Given the description of an element on the screen output the (x, y) to click on. 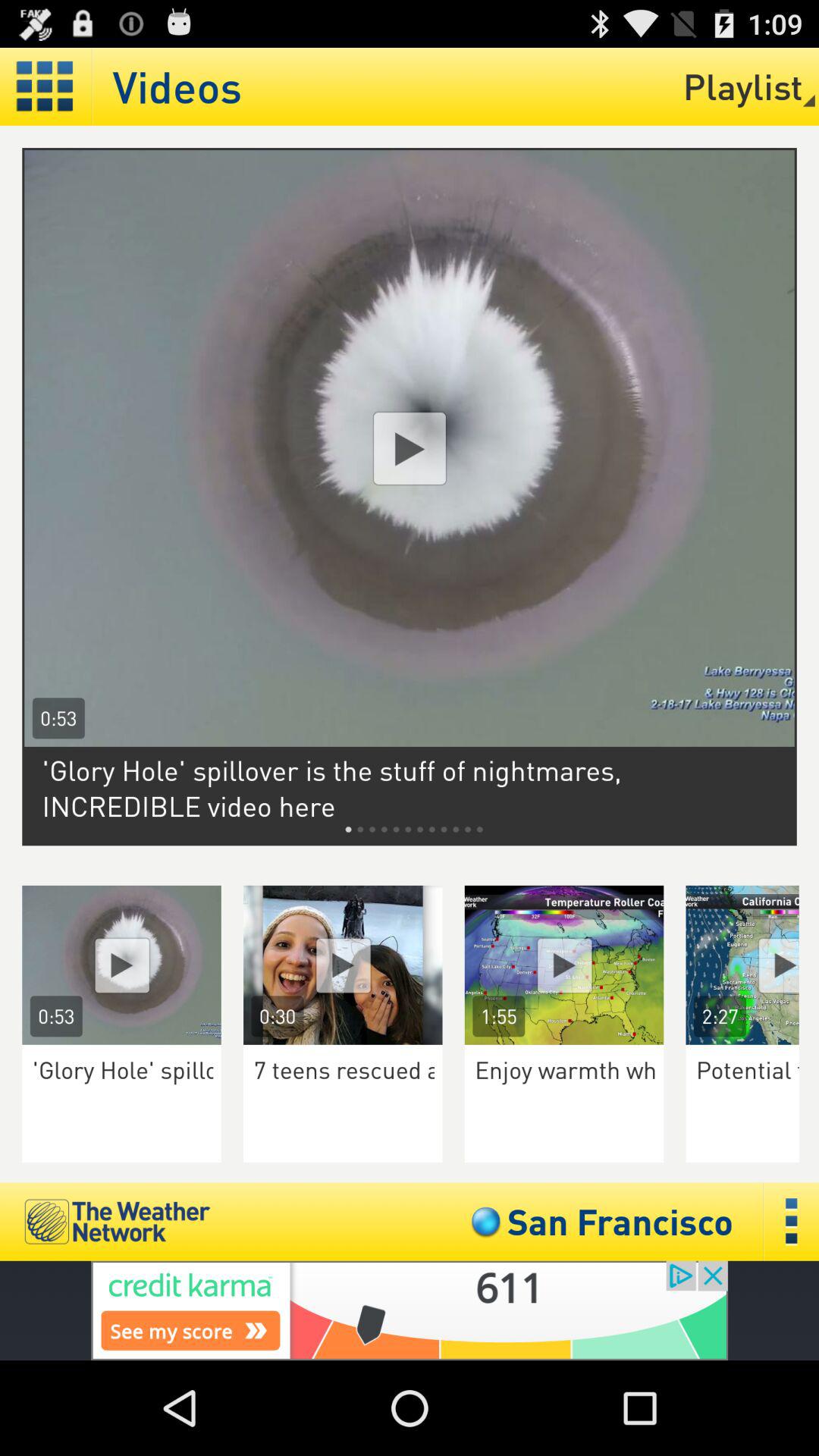
watch the video (563, 964)
